Given the description of an element on the screen output the (x, y) to click on. 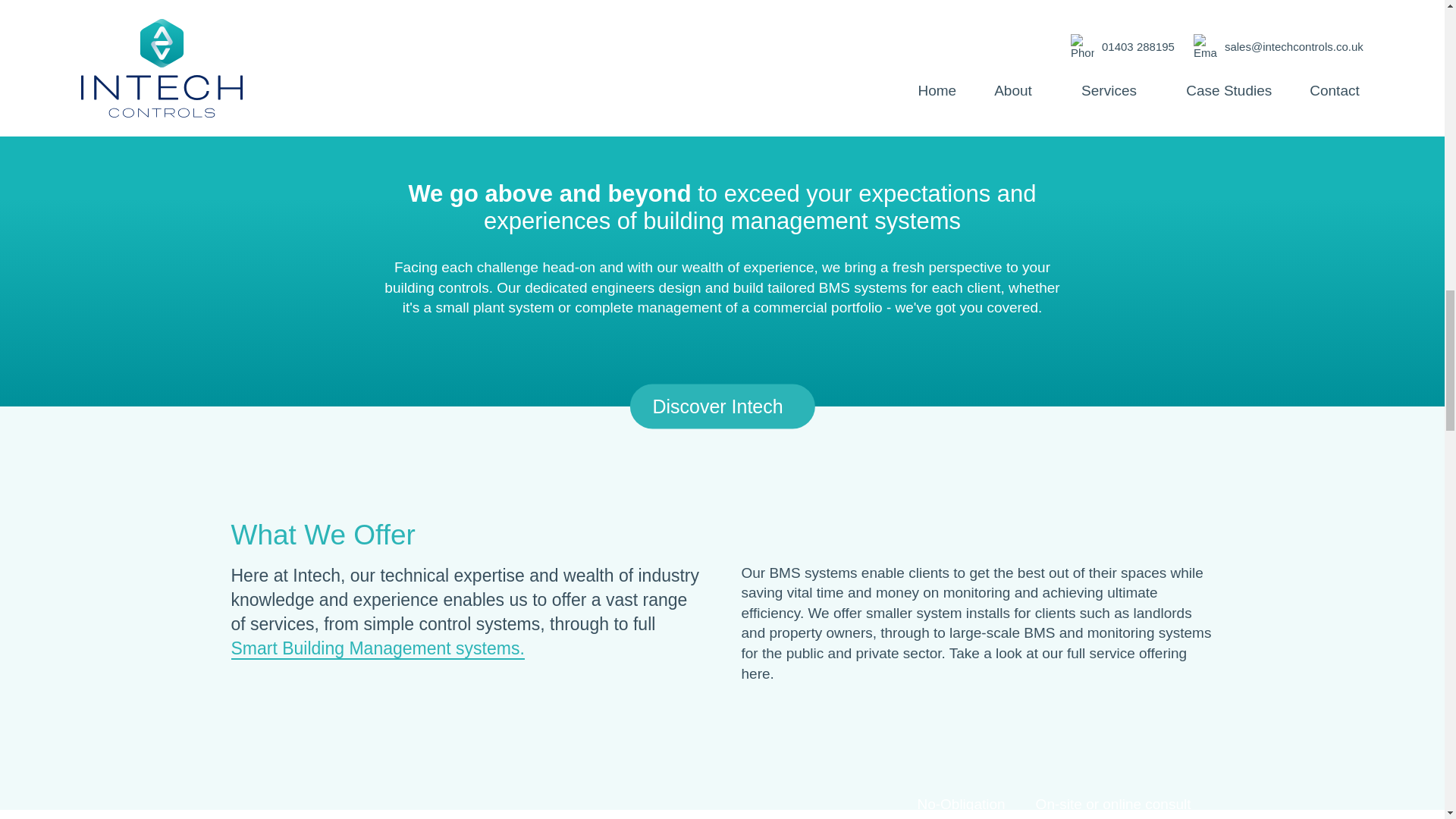
Energy Metering (1042, 52)
Dashboards (561, 52)
Smart Building Management systems. (377, 649)
Discover Intech (720, 406)
